Given the description of an element on the screen output the (x, y) to click on. 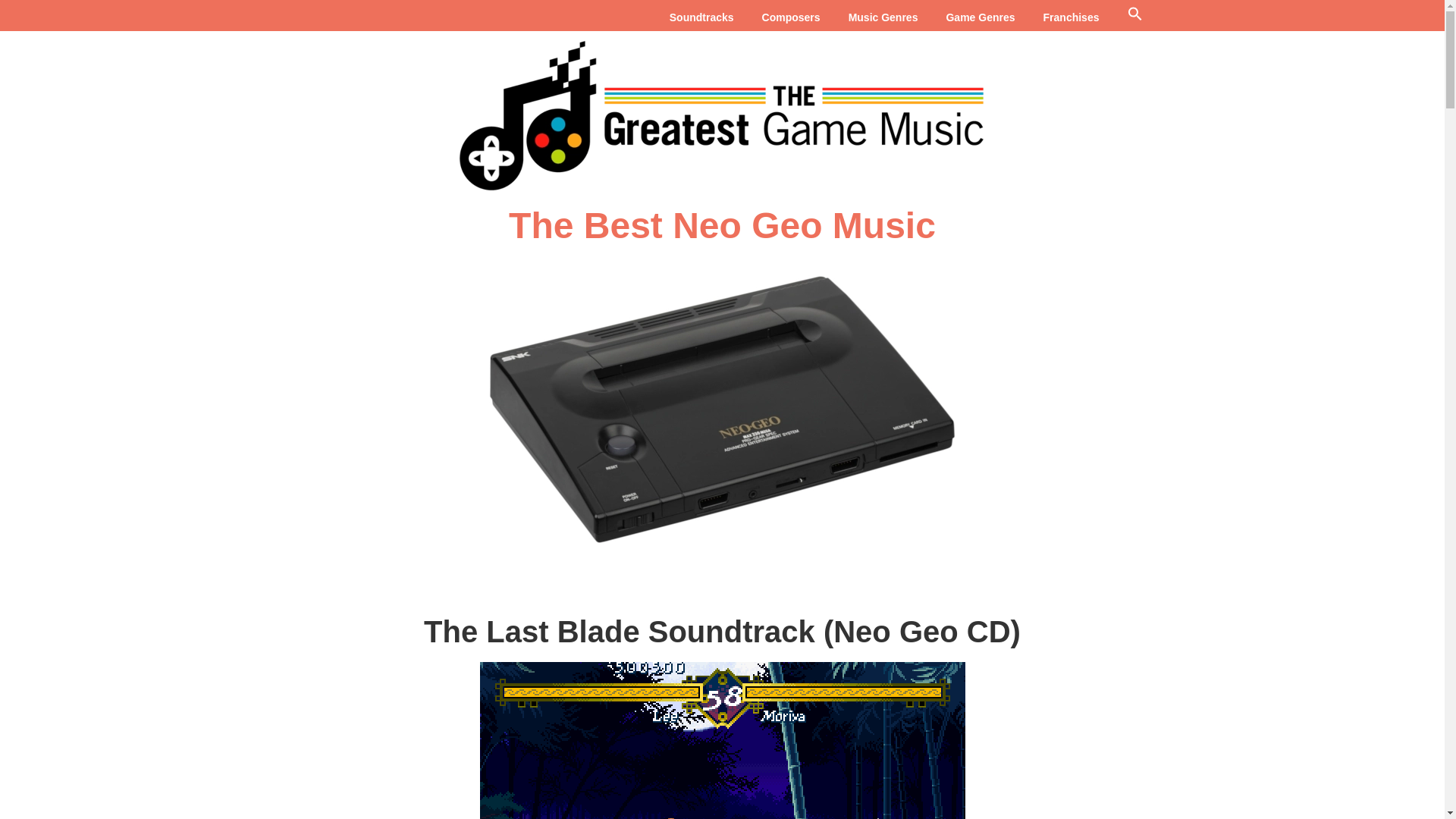
Franchises (1071, 17)
Soundtracks (701, 17)
Game Genres (979, 17)
Music Genres (882, 17)
Composers (790, 17)
